Given the description of an element on the screen output the (x, y) to click on. 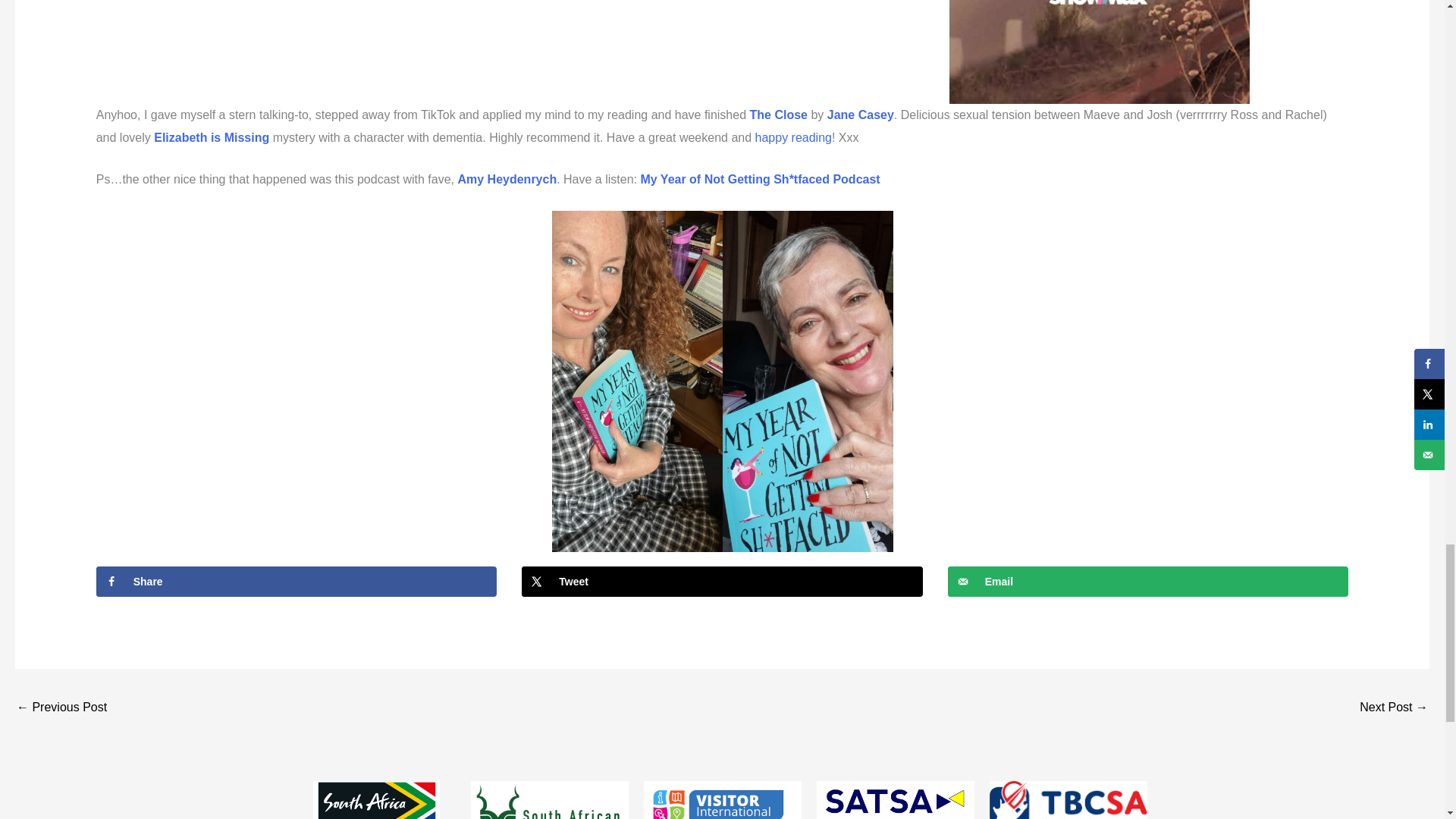
Share on X (722, 581)
Death of a TV Writer (1393, 708)
Send over email (1148, 581)
Share on Facebook (296, 581)
Not Dry, Just Damp (61, 708)
